Given the description of an element on the screen output the (x, y) to click on. 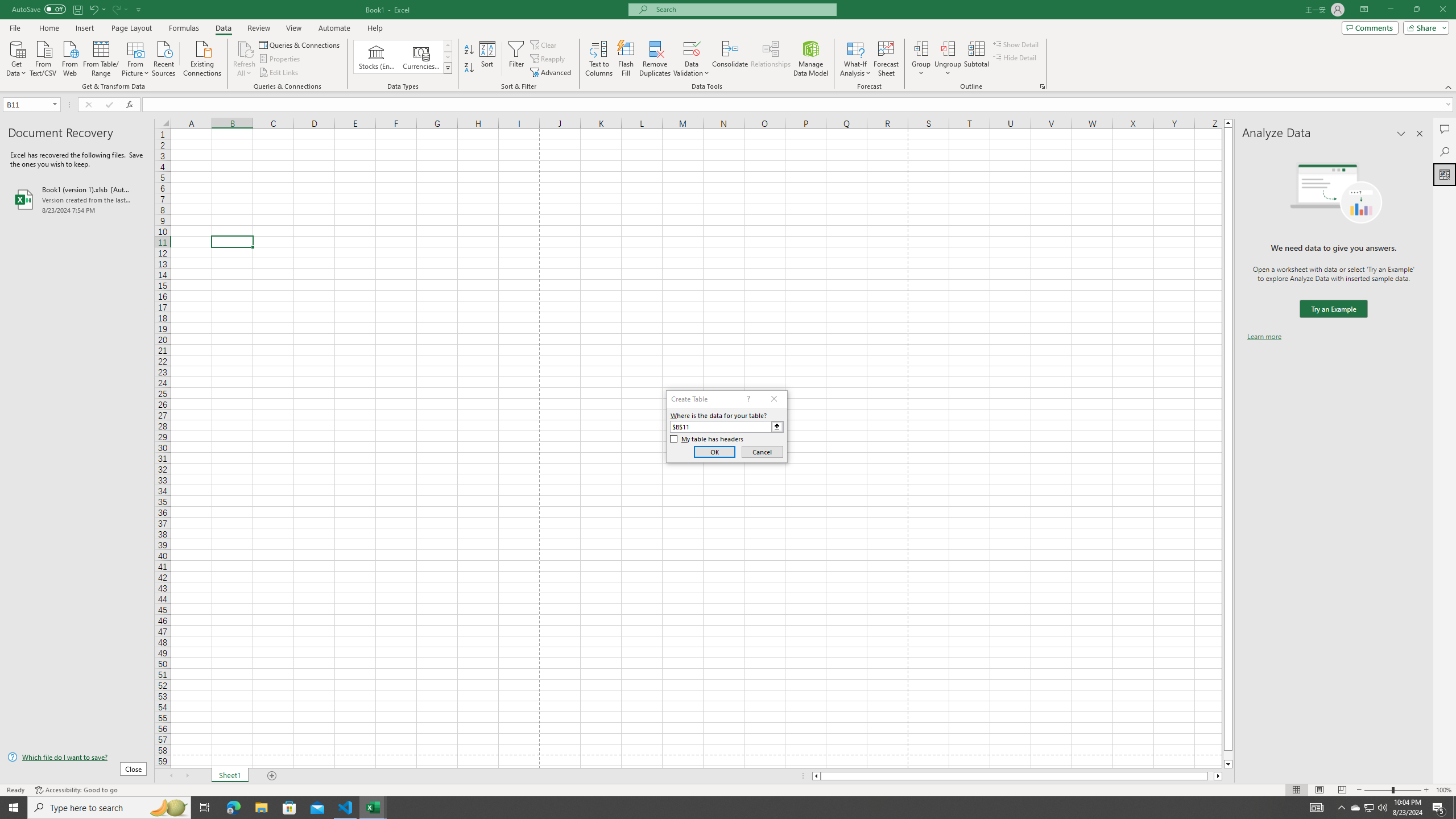
Consolidate... (729, 58)
